Given the description of an element on the screen output the (x, y) to click on. 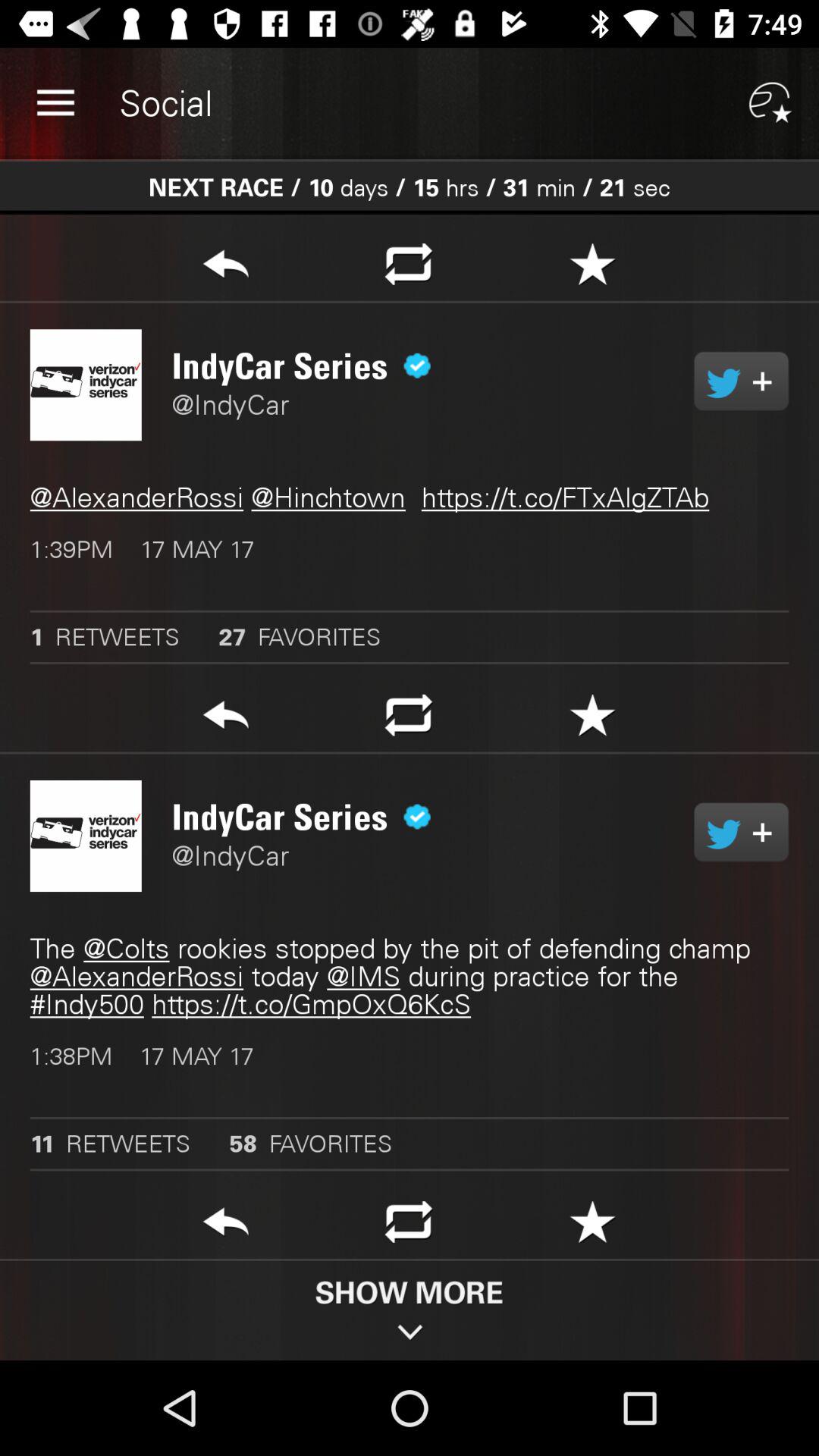
go back (225, 268)
